Given the description of an element on the screen output the (x, y) to click on. 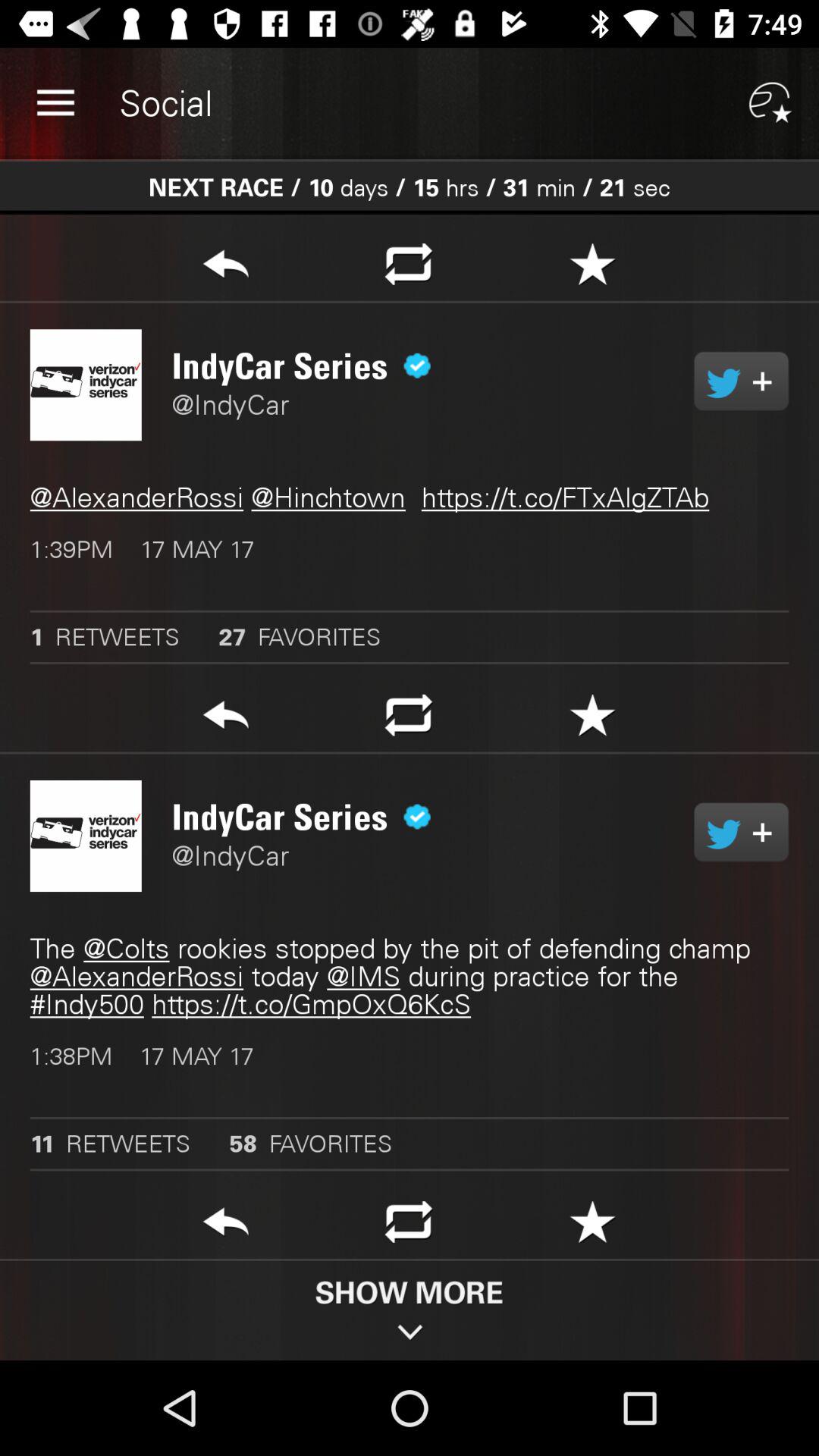
go back (225, 268)
